Given the description of an element on the screen output the (x, y) to click on. 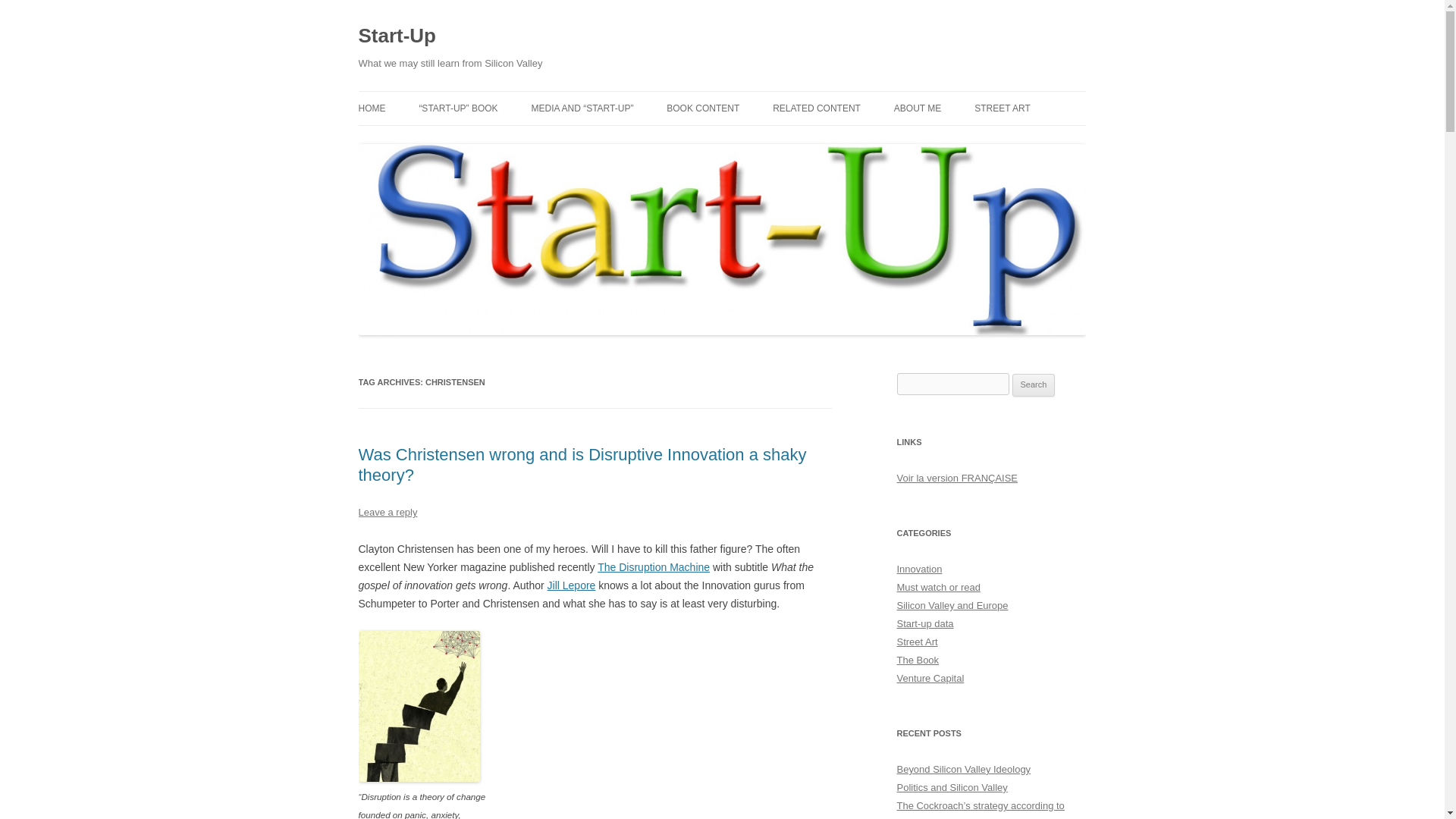
Start-Up (396, 36)
Jill Lepore (571, 585)
The Disruption Machine (653, 567)
BOOK CONTENT (702, 108)
Leave a reply (387, 511)
THE RECENT INVASIONS (1049, 140)
ABOUT ME (916, 108)
Search (1033, 384)
STREET ART (1002, 108)
